Given the description of an element on the screen output the (x, y) to click on. 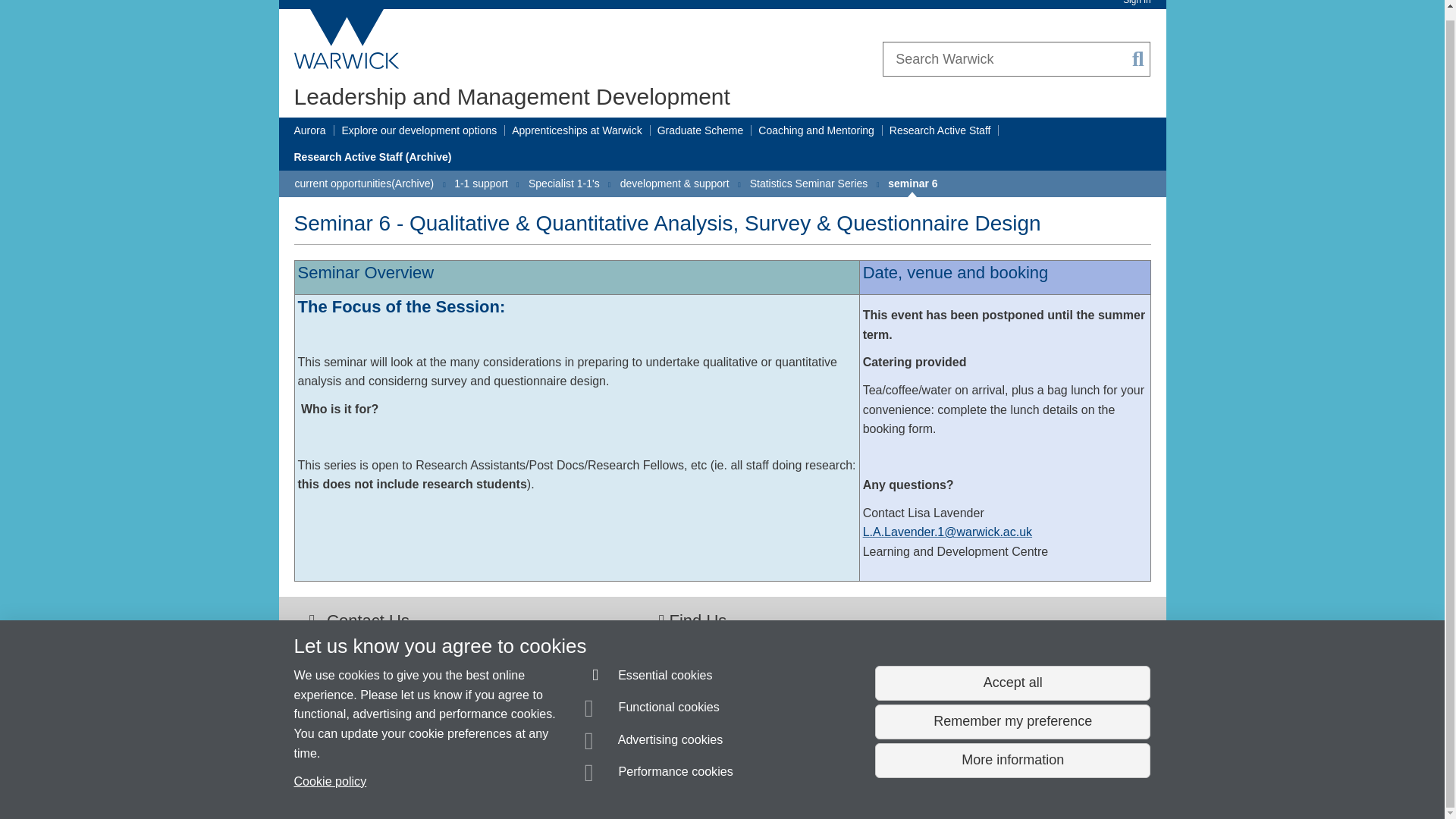
Aurora (310, 130)
Copyright Statement (514, 780)
Coaching and Mentoring (816, 130)
Essential cookies are always on (649, 668)
Statistics Seminar Series (808, 183)
Explore our development options (419, 130)
University of Warwick homepage (346, 39)
Send an email to Leadership and Management Development (438, 751)
1-1 support (481, 183)
Specialist 1-1's (563, 183)
Accept all functional, advertising and performance cookies (1012, 673)
seminar 6 (912, 183)
More information about SiteBuilder (365, 780)
